Given the description of an element on the screen output the (x, y) to click on. 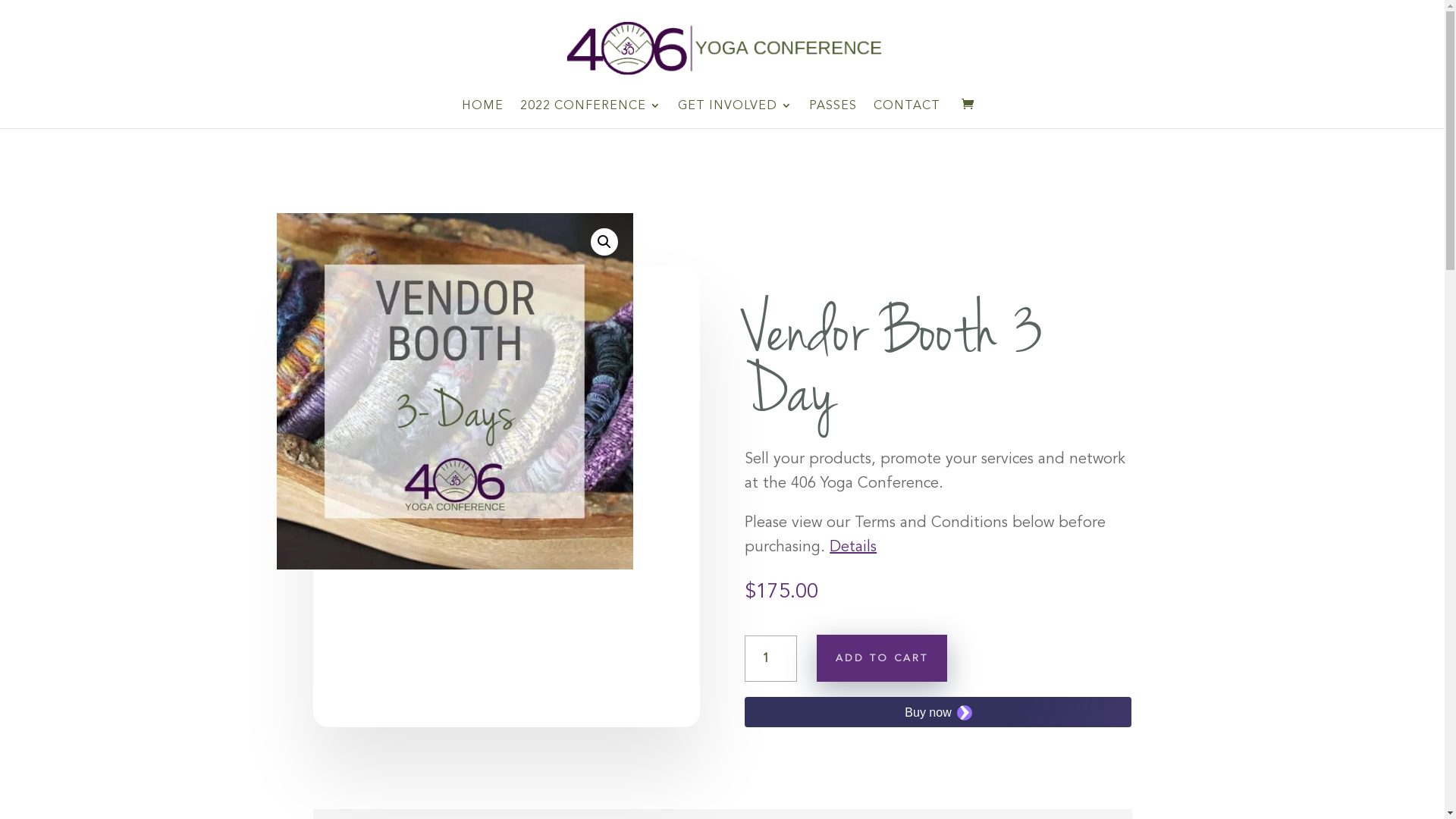
Details Element type: text (852, 546)
GET INVOLVED Element type: text (734, 114)
ADD TO CART Element type: text (881, 657)
Secure payment button frame Element type: hover (937, 711)
CONTACT Element type: text (906, 114)
PASSES Element type: text (832, 114)
2022 CONFERENCE Element type: text (590, 114)
HOME Element type: text (482, 114)
406 Yoga Vendor Booth Element type: hover (454, 391)
